Given the description of an element on the screen output the (x, y) to click on. 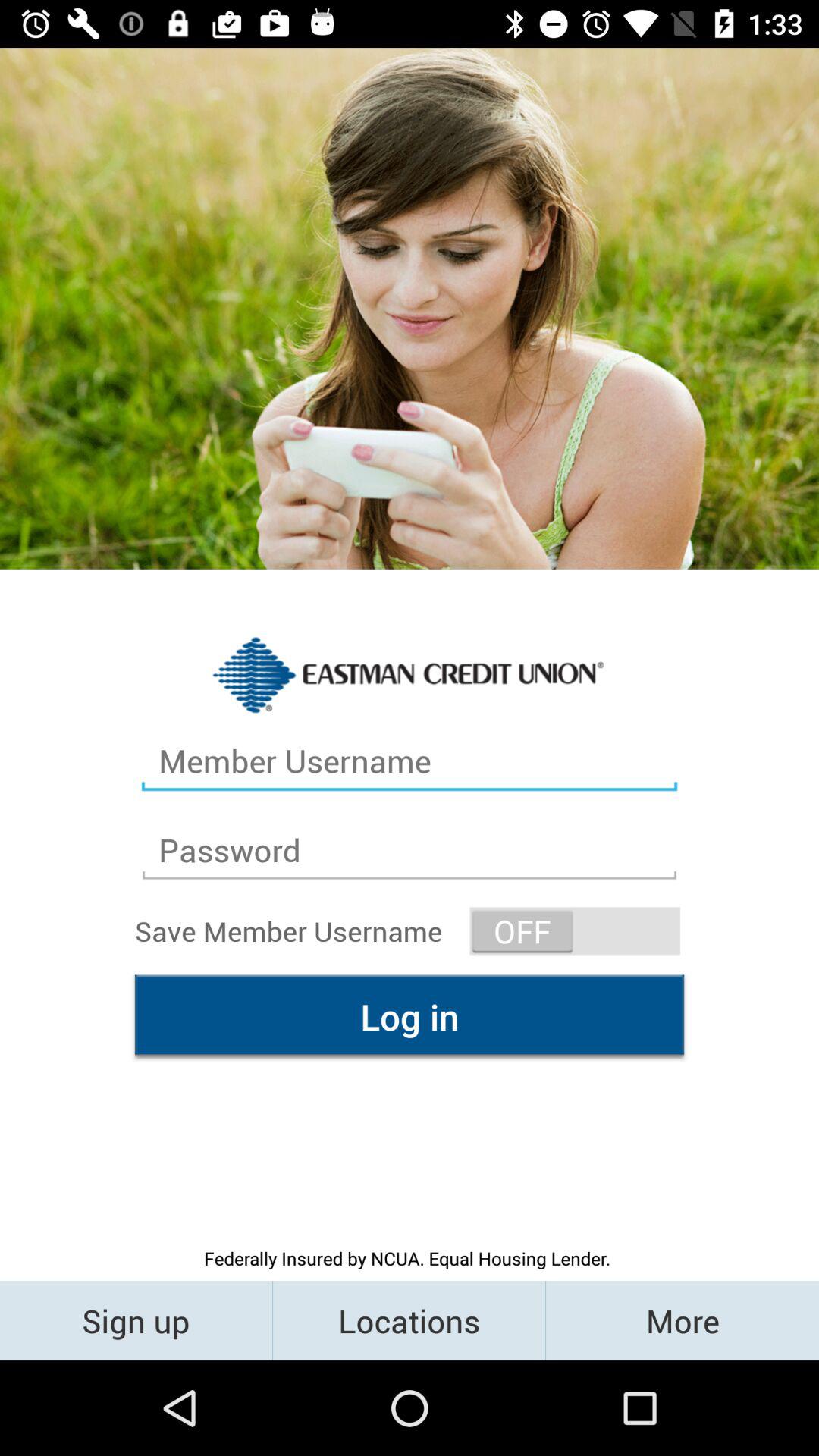
tap the icon on the right (574, 930)
